Given the description of an element on the screen output the (x, y) to click on. 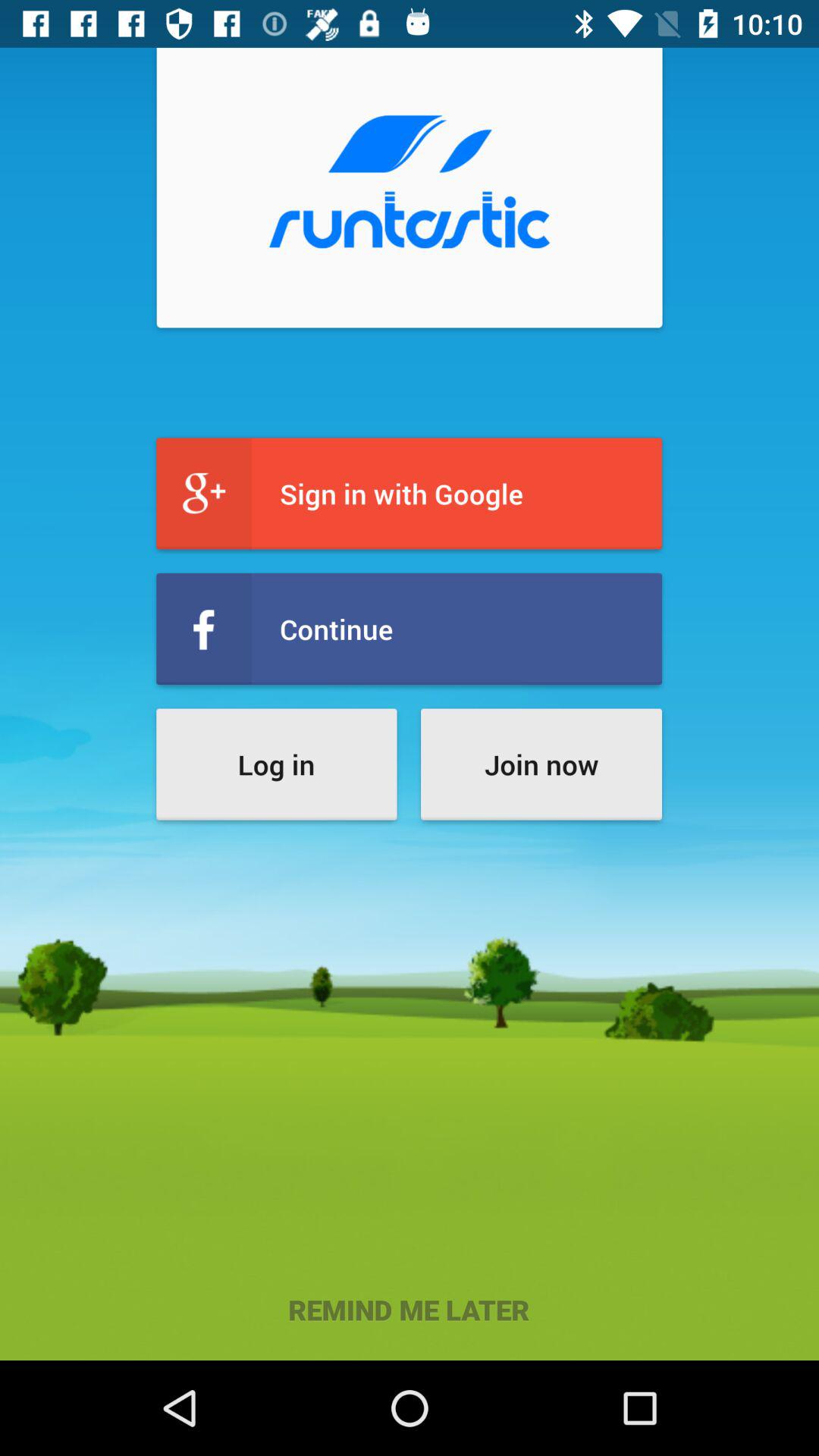
turn off the log in icon (276, 764)
